Given the description of an element on the screen output the (x, y) to click on. 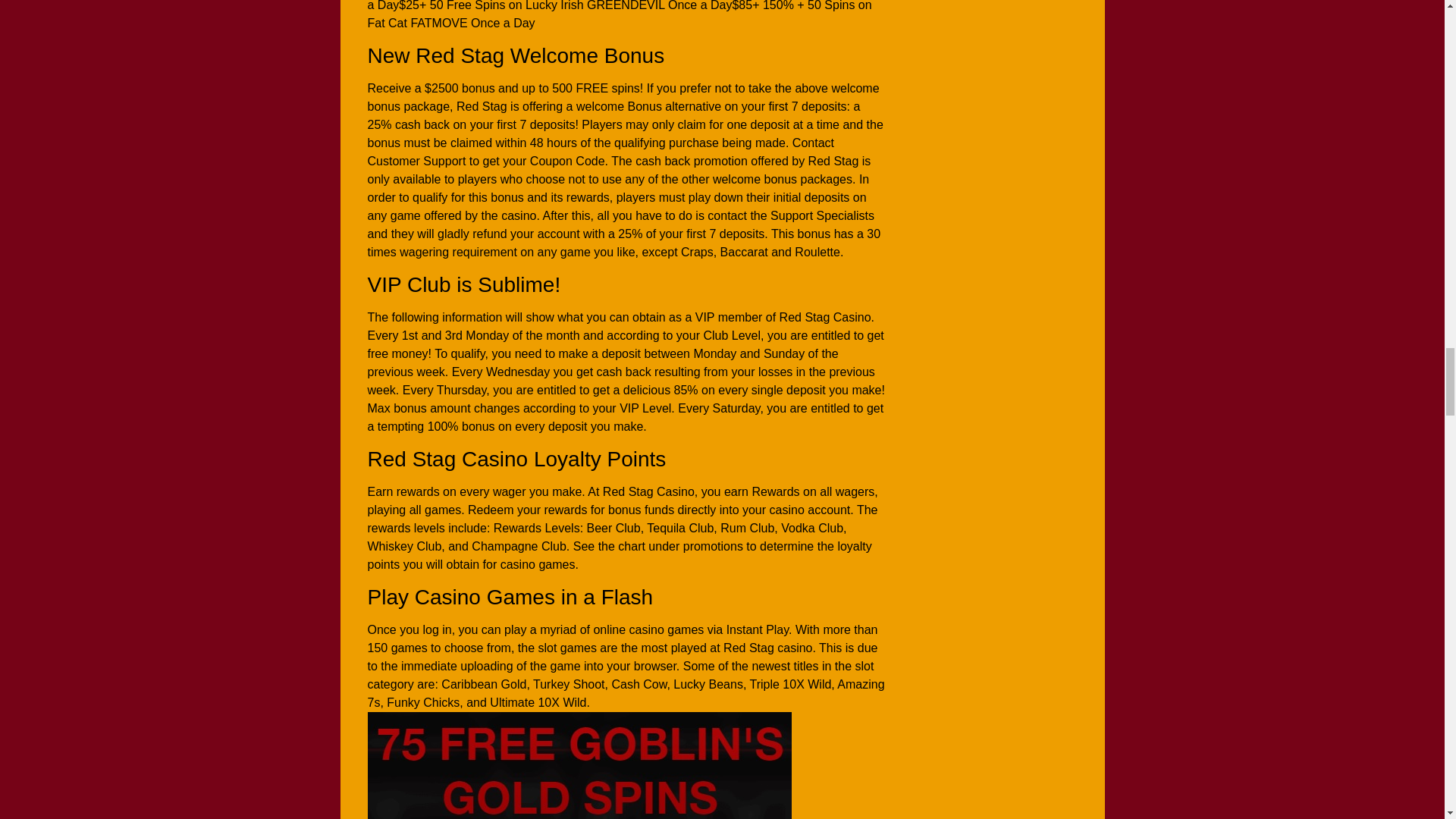
Red (578, 765)
